Given the description of an element on the screen output the (x, y) to click on. 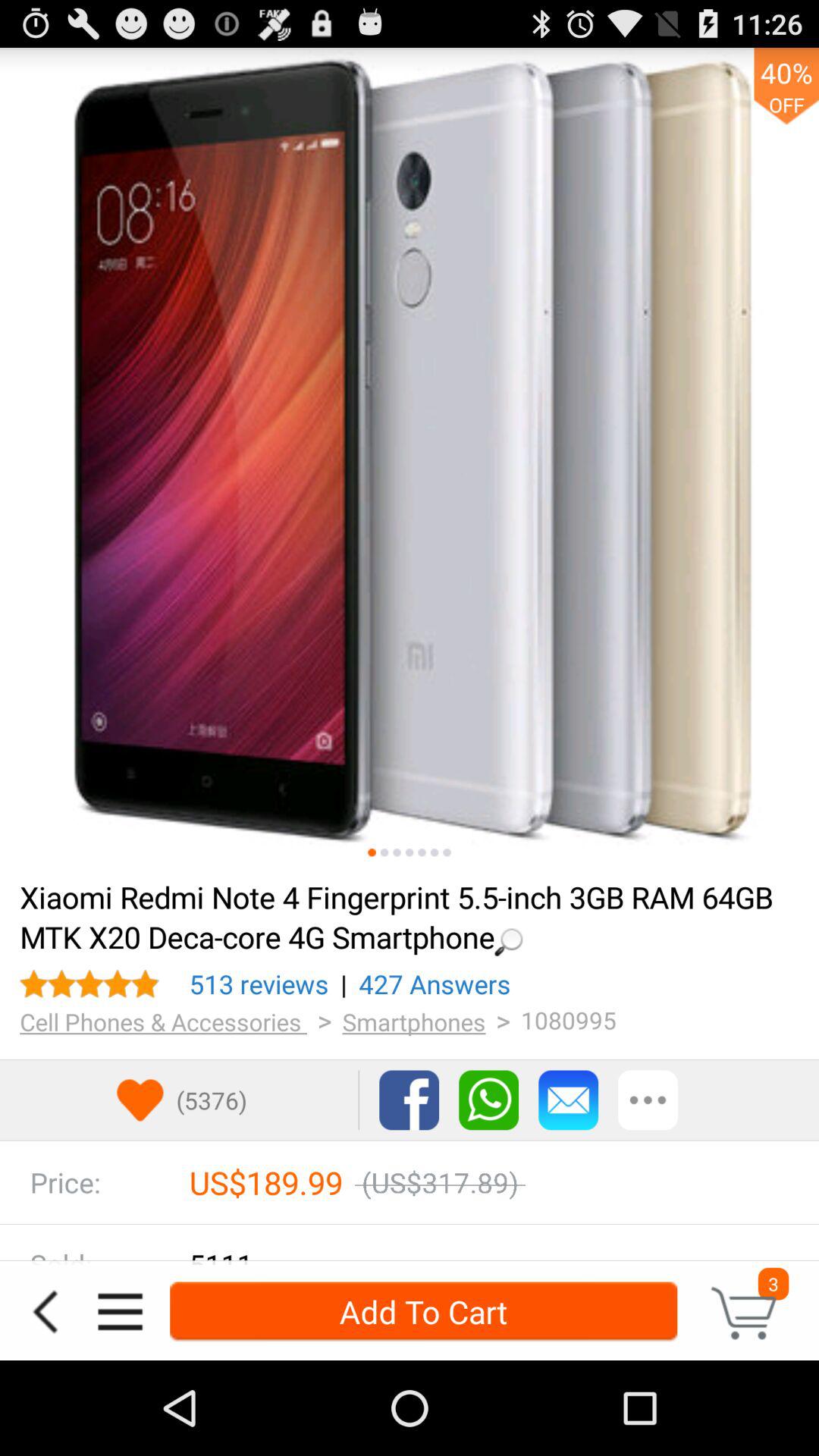
toggle through images (396, 852)
